Given the description of an element on the screen output the (x, y) to click on. 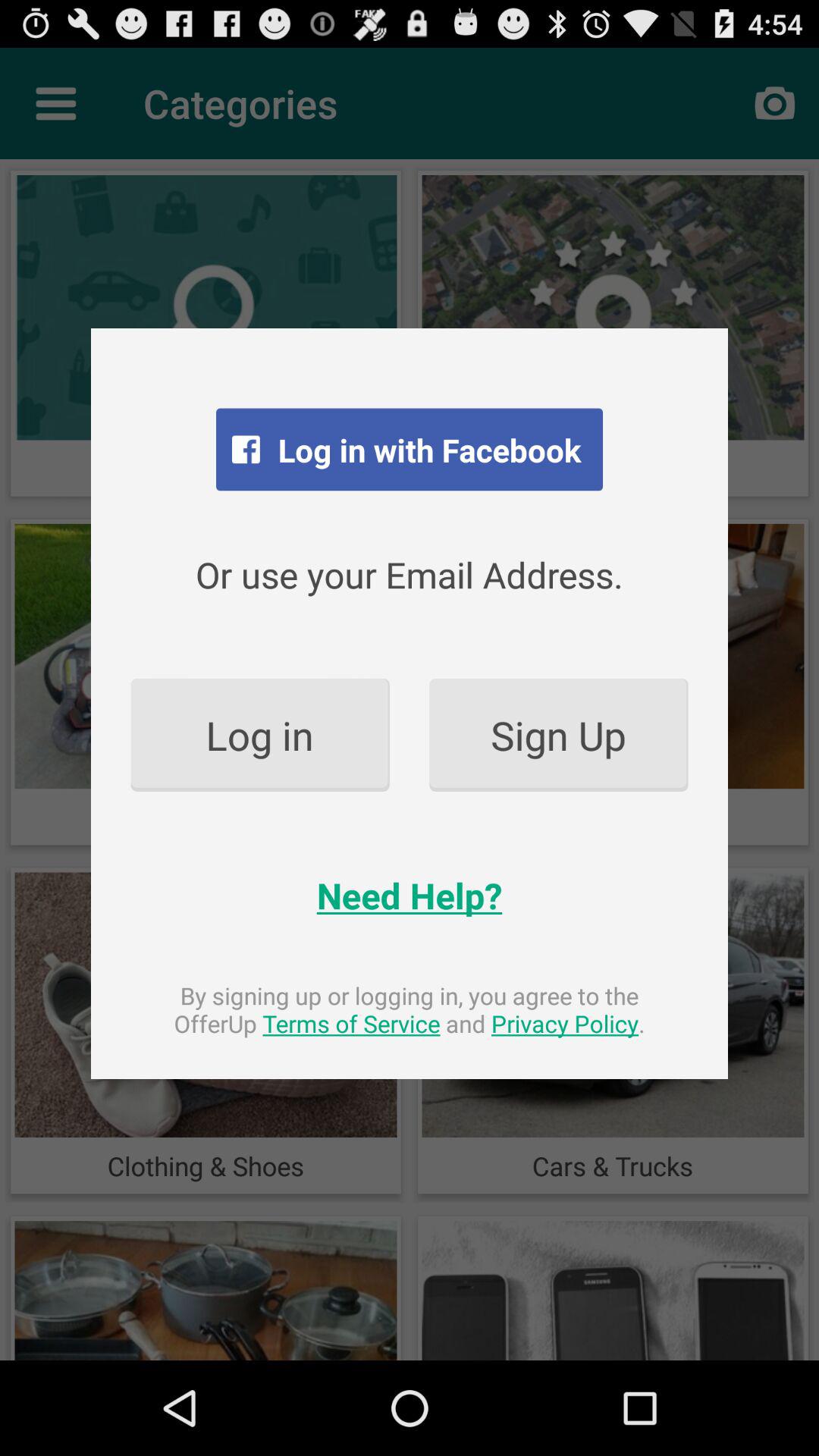
turn off the by signing up icon (409, 1009)
